Given the description of an element on the screen output the (x, y) to click on. 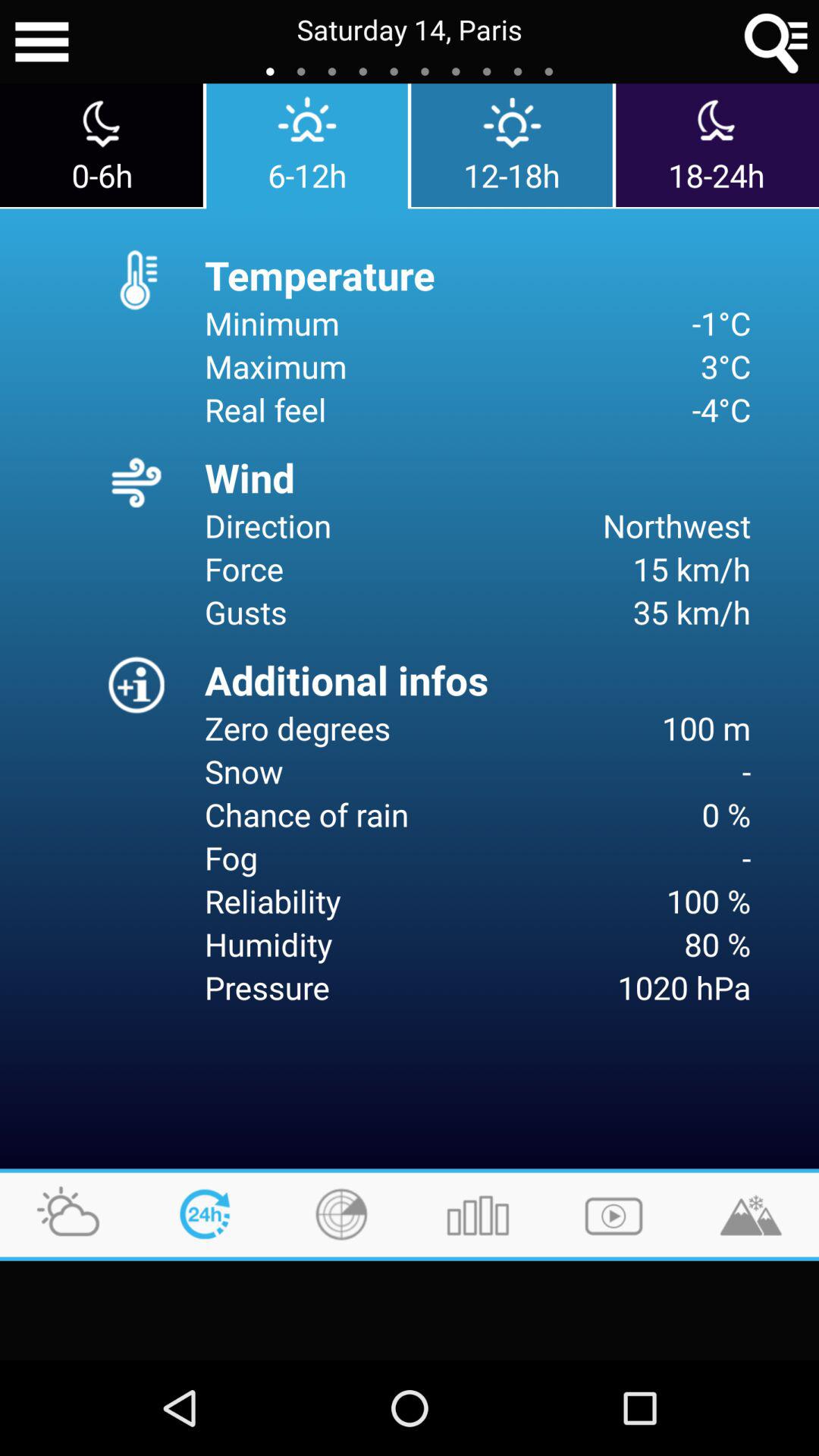
menu (41, 41)
